Given the description of an element on the screen output the (x, y) to click on. 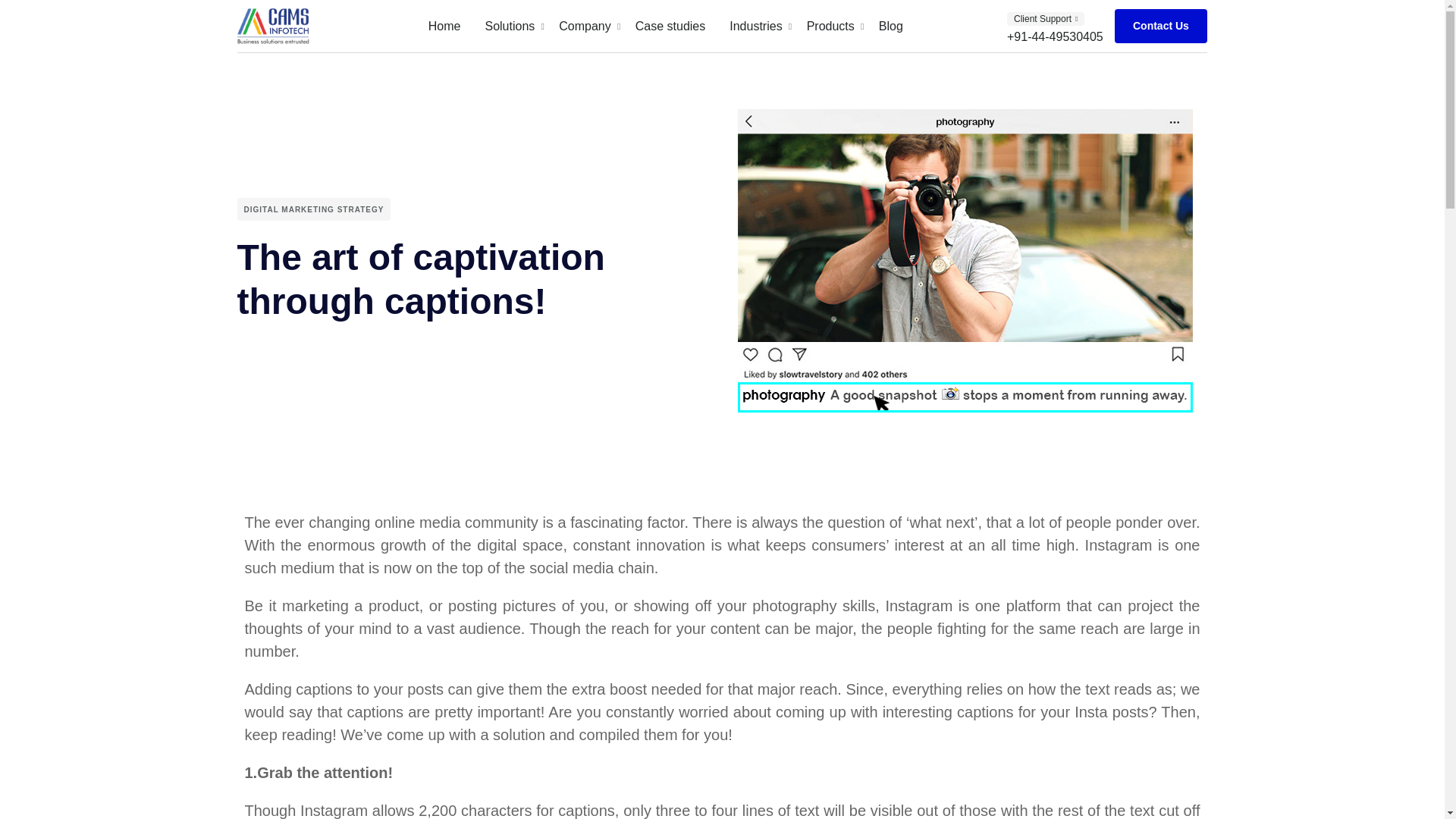
Client Support (665, 26)
